Given the description of an element on the screen output the (x, y) to click on. 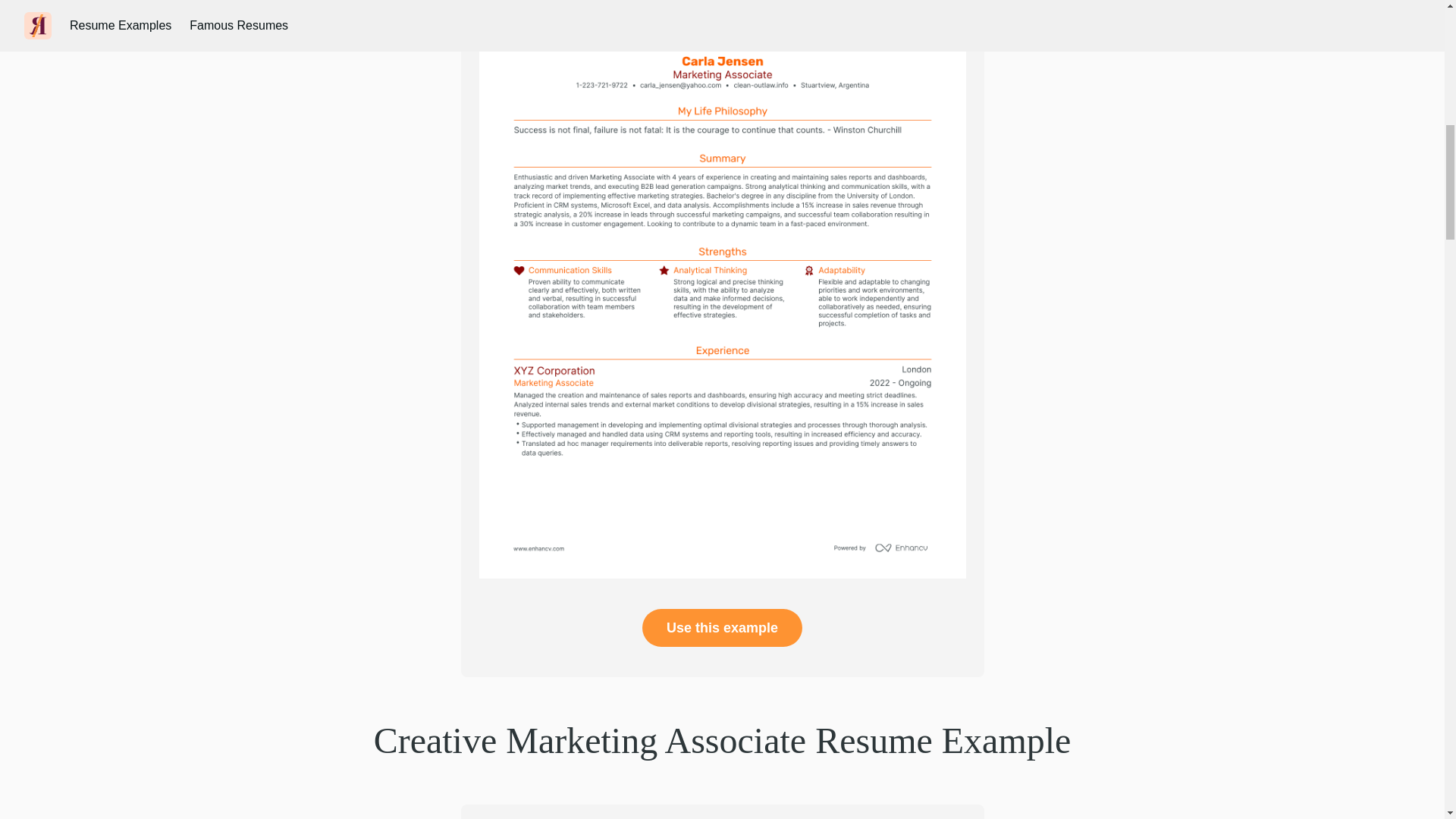
Use this example (722, 628)
